Given the description of an element on the screen output the (x, y) to click on. 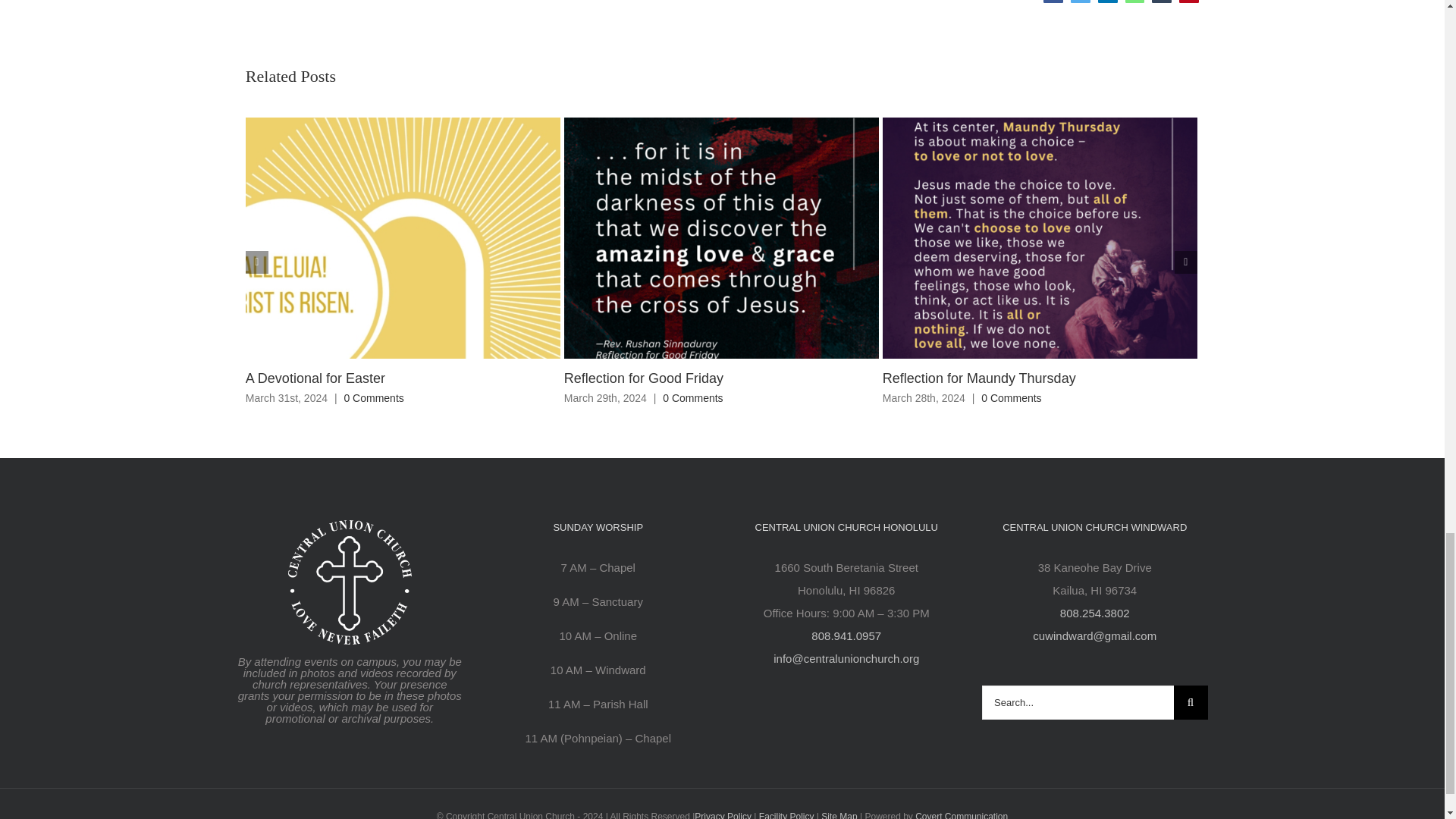
Reflection for Good Friday (643, 378)
A Devotional for Easter (315, 378)
Reflection for Maundy Thursday (978, 378)
